Given the description of an element on the screen output the (x, y) to click on. 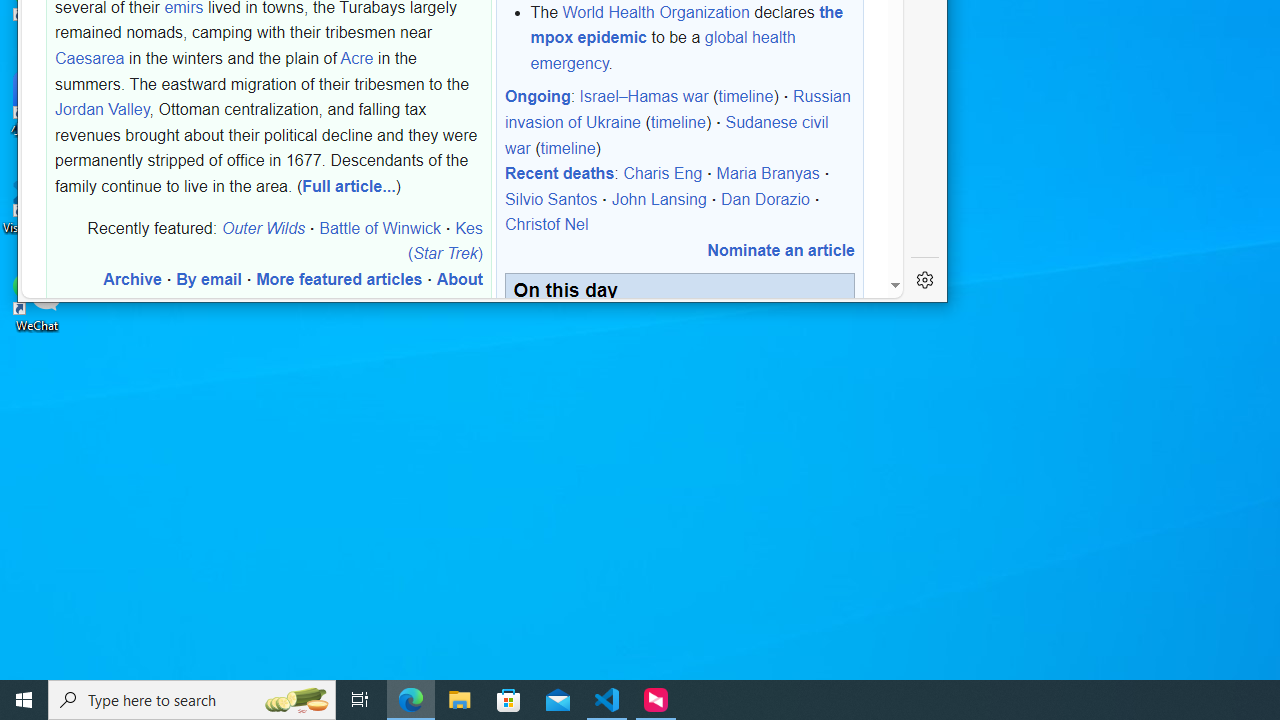
Task View (359, 699)
Microsoft Edge - 1 running window (411, 699)
Start (24, 699)
Microsoft Store (509, 699)
Type here to search (191, 699)
Visual Studio Code - 1 running window (607, 699)
Search highlights icon opens search home window (295, 699)
File Explorer (460, 699)
